Given the description of an element on the screen output the (x, y) to click on. 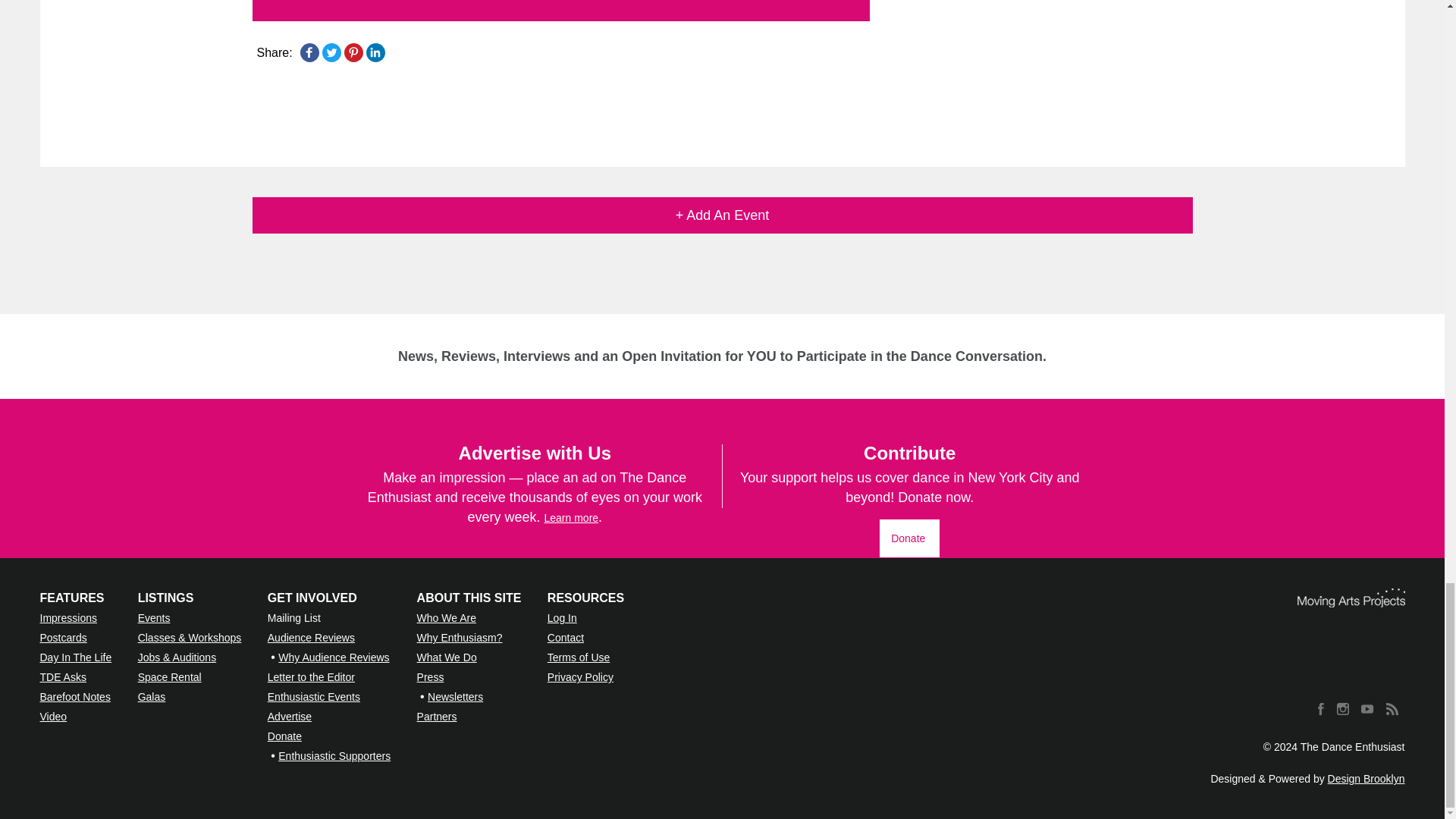
Facebook (309, 52)
Pinterest (353, 52)
Twitter (331, 52)
LinkedIn (375, 52)
